Given the description of an element on the screen output the (x, y) to click on. 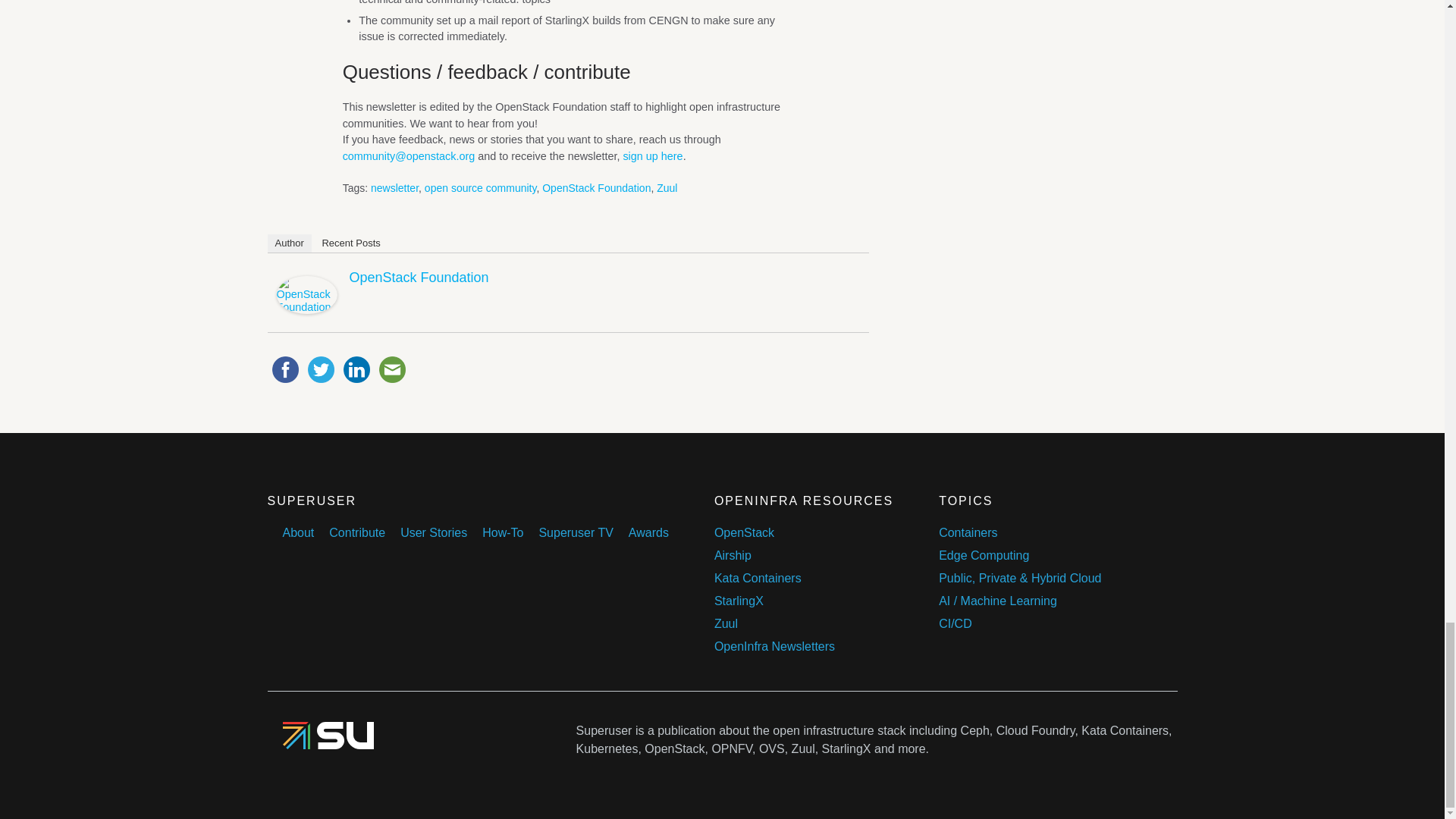
linkedin (355, 369)
email (392, 369)
twitter (320, 369)
facebook (284, 369)
OpenStack Foundation (306, 309)
